Given the description of an element on the screen output the (x, y) to click on. 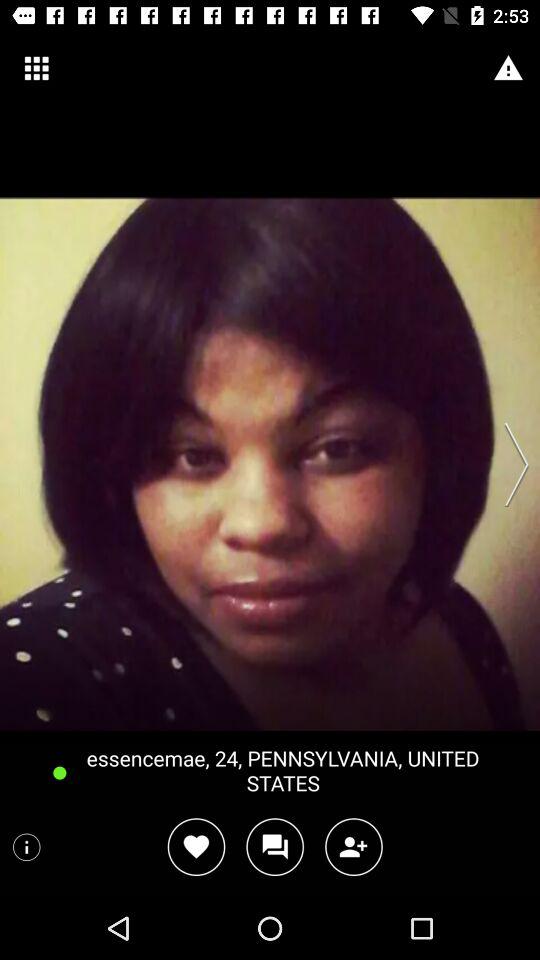
add contact option (353, 846)
